Given the description of an element on the screen output the (x, y) to click on. 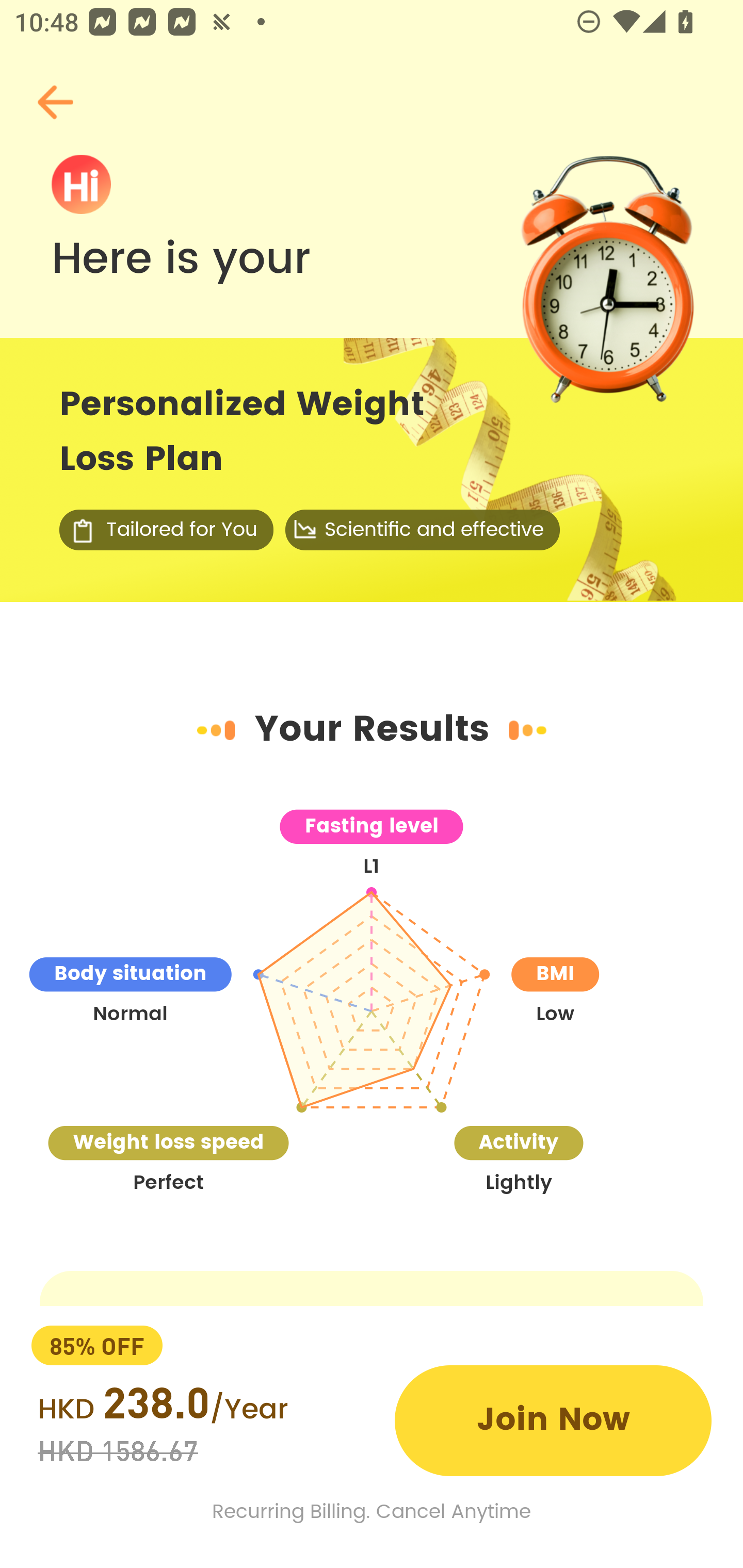
Join Now (552, 1420)
